Given the description of an element on the screen output the (x, y) to click on. 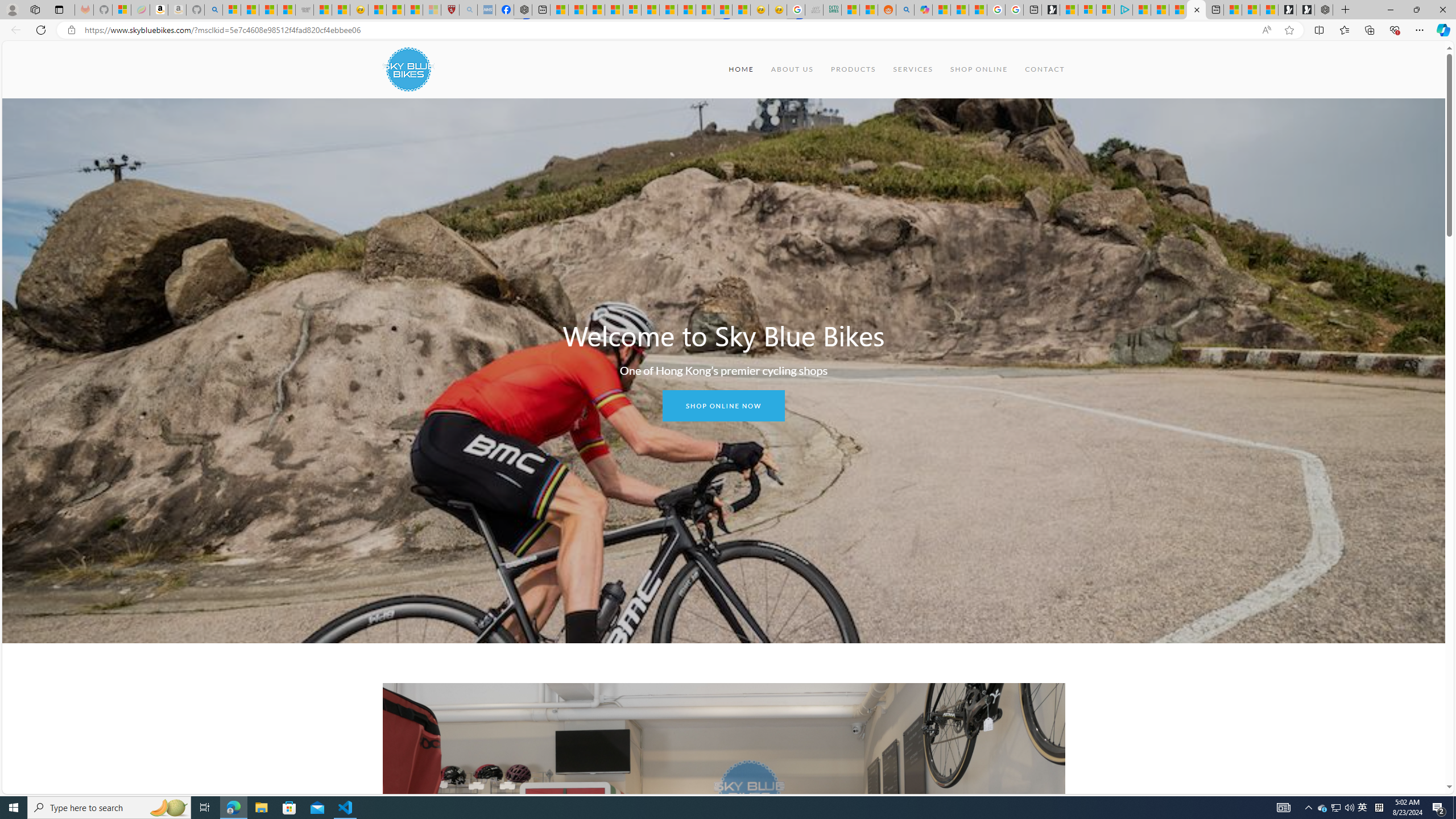
Science - MSN (414, 9)
Microsoft Copilot in Bing (923, 9)
Recipes - MSN (377, 9)
SERVICES (912, 68)
list of asthma inhalers uk - Search - Sleeping (467, 9)
Combat Siege (304, 9)
ABOUT US (791, 68)
ABOUT US (791, 68)
